Given the description of an element on the screen output the (x, y) to click on. 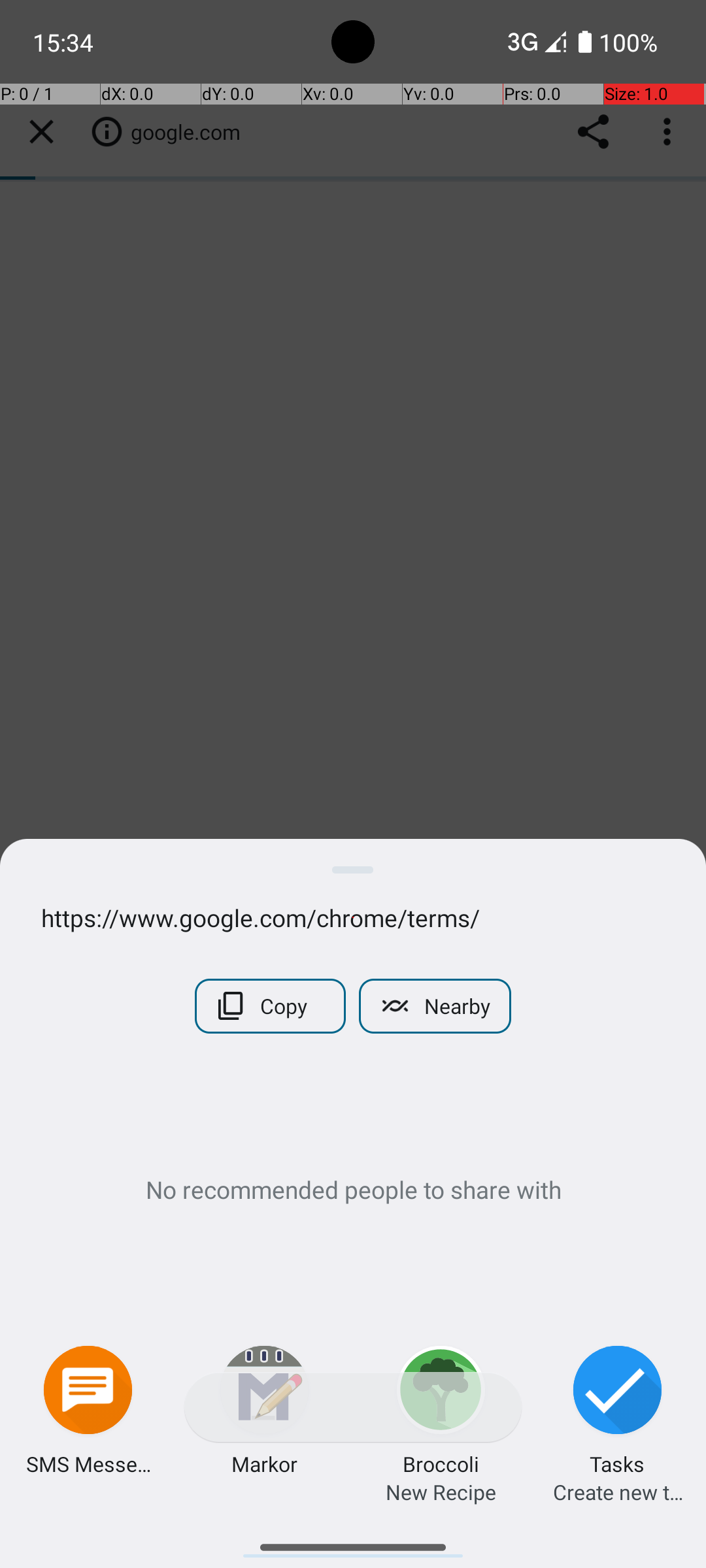
Apps list Element type: android.widget.ImageView (353, 1541)
https://www.google.com/chrome/terms/ Element type: android.widget.TextView (352, 917)
Copy Element type: android.widget.Button (269, 1005)
Nearby Element type: android.widget.Button (434, 1005)
No recommended people to share with Element type: android.widget.TextView (353, 1189)
SMS Messenger Element type: android.widget.TextView (87, 1463)
Markor Element type: android.widget.TextView (264, 1463)
Broccoli Element type: android.widget.TextView (440, 1463)
New Recipe Element type: android.widget.TextView (440, 1491)
Tasks Element type: android.widget.TextView (617, 1463)
Create new task Element type: android.widget.TextView (617, 1491)
